Given the description of an element on the screen output the (x, y) to click on. 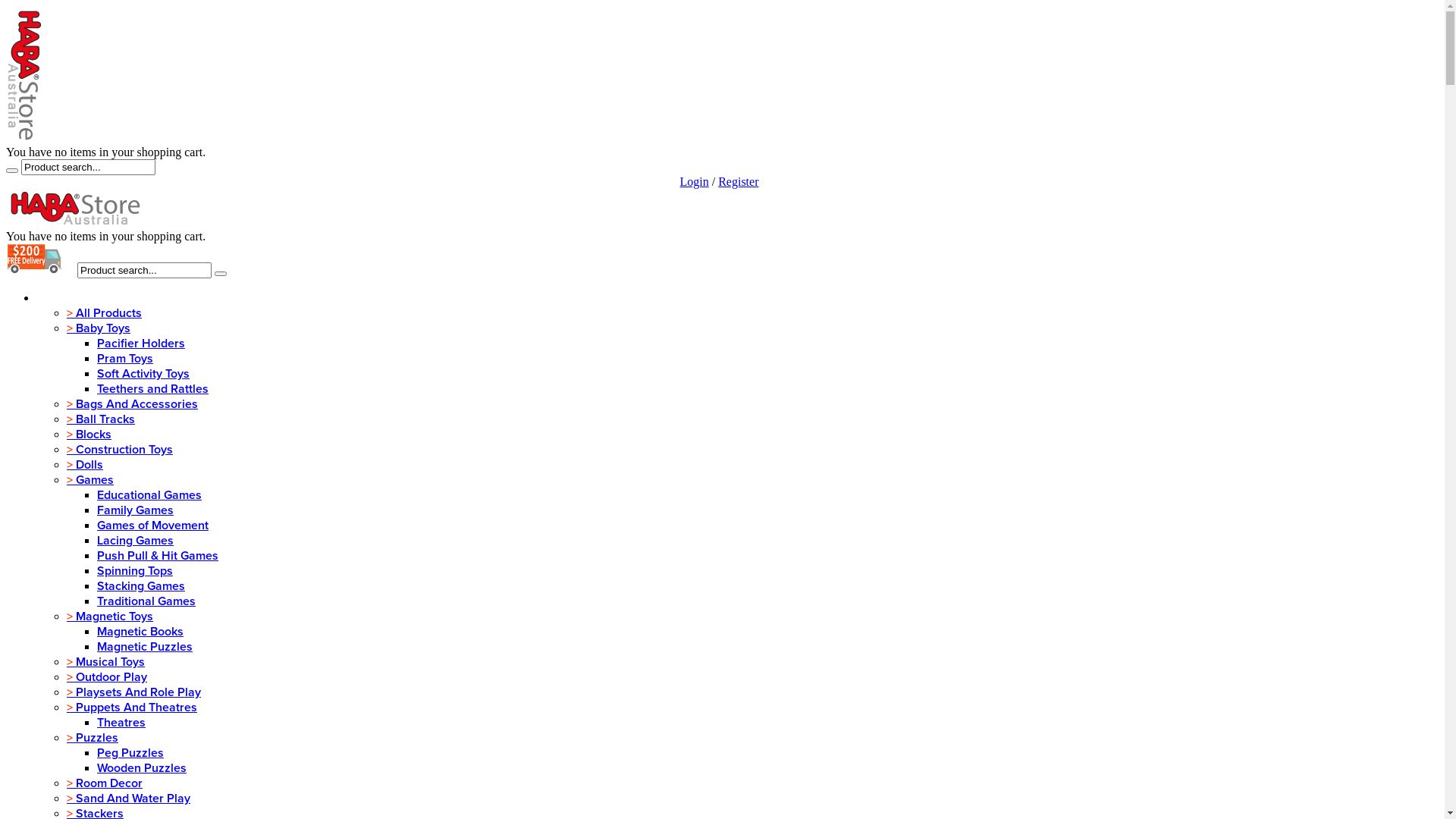
  MENU Element type: text (58, 297)
Lacing Games Element type: text (135, 540)
> Musical Toys Element type: text (105, 661)
> Outdoor Play Element type: text (106, 676)
Push Pull & Hit Games Element type: text (157, 555)
> Room Decor Element type: text (104, 782)
> Construction Toys Element type: text (119, 449)
> Blocks Element type: text (88, 434)
> Playsets And Role Play Element type: text (133, 691)
Educational Games Element type: text (149, 494)
Teethers and Rattles Element type: text (152, 388)
Register Element type: text (738, 181)
Spinning Tops Element type: text (134, 570)
> Baby Toys Element type: text (98, 327)
Games of Movement Element type: text (152, 525)
Traditional Games Element type: text (146, 600)
> Games Element type: text (89, 479)
Magnetic Books Element type: text (140, 631)
> All Products Element type: text (103, 312)
Theatres Element type: text (121, 722)
HABA Store Element type: hover (24, 74)
Family Games Element type: text (135, 509)
Login Element type: text (693, 181)
Pacifier Holders Element type: text (141, 343)
HABA Element type: hover (74, 207)
> Sand And Water Play Element type: text (128, 798)
Stacking Games Element type: text (141, 585)
Peg Puzzles Element type: text (130, 752)
> Puppets And Theatres Element type: text (131, 707)
Pram Toys Element type: text (125, 358)
> Puzzles Element type: text (92, 737)
Wooden Puzzles Element type: text (141, 767)
Magnetic Puzzles Element type: text (144, 646)
> Bags And Accessories Element type: text (131, 403)
> Ball Tracks Element type: text (100, 418)
> Magnetic Toys Element type: text (109, 616)
> Dolls Element type: text (84, 464)
Soft Activity Toys Element type: text (143, 373)
